Given the description of an element on the screen output the (x, y) to click on. 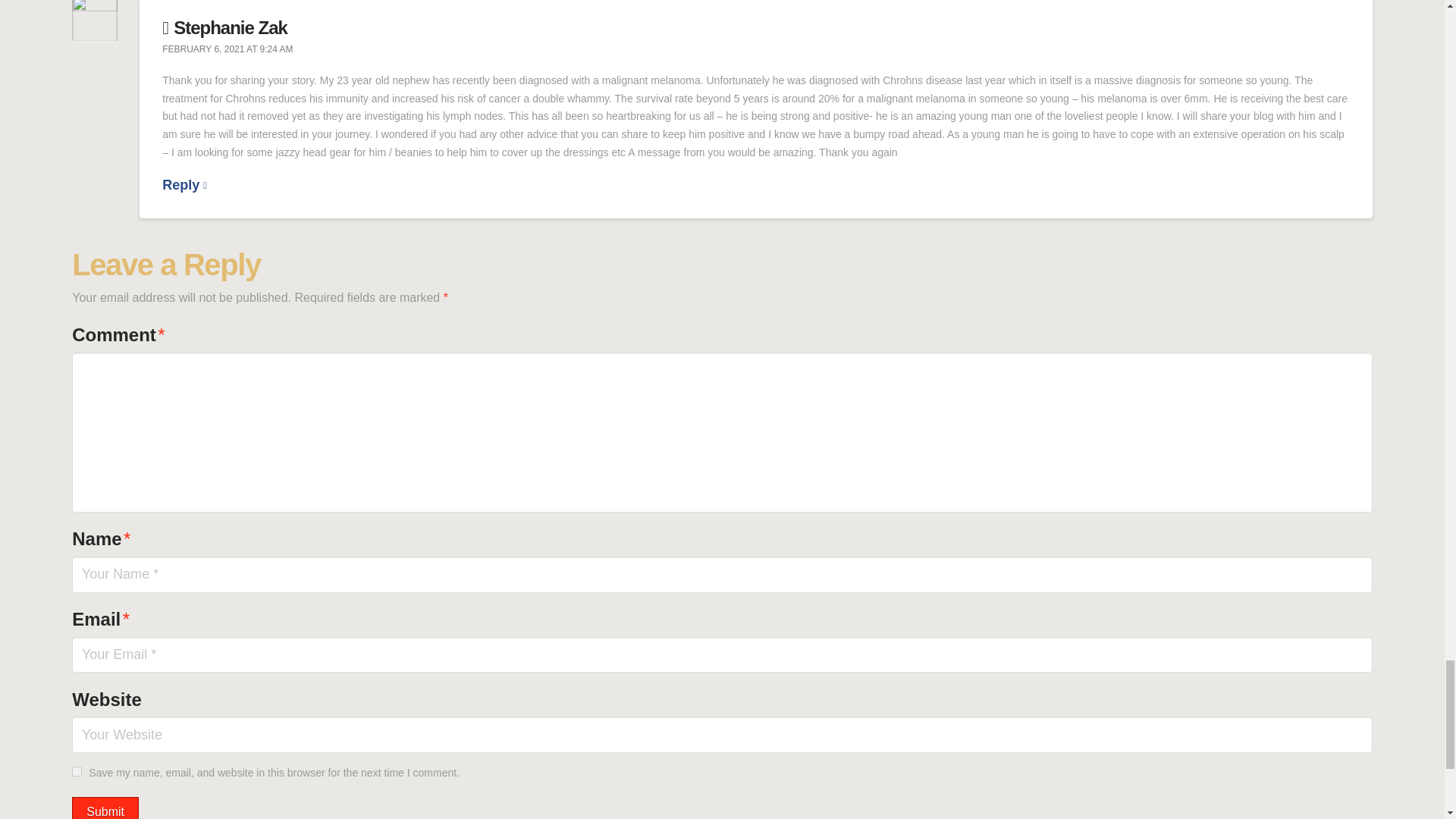
yes (76, 771)
Reply (183, 184)
Submit (104, 807)
FEBRUARY 6, 2021 AT 9:24 AM (226, 50)
